Given the description of an element on the screen output the (x, y) to click on. 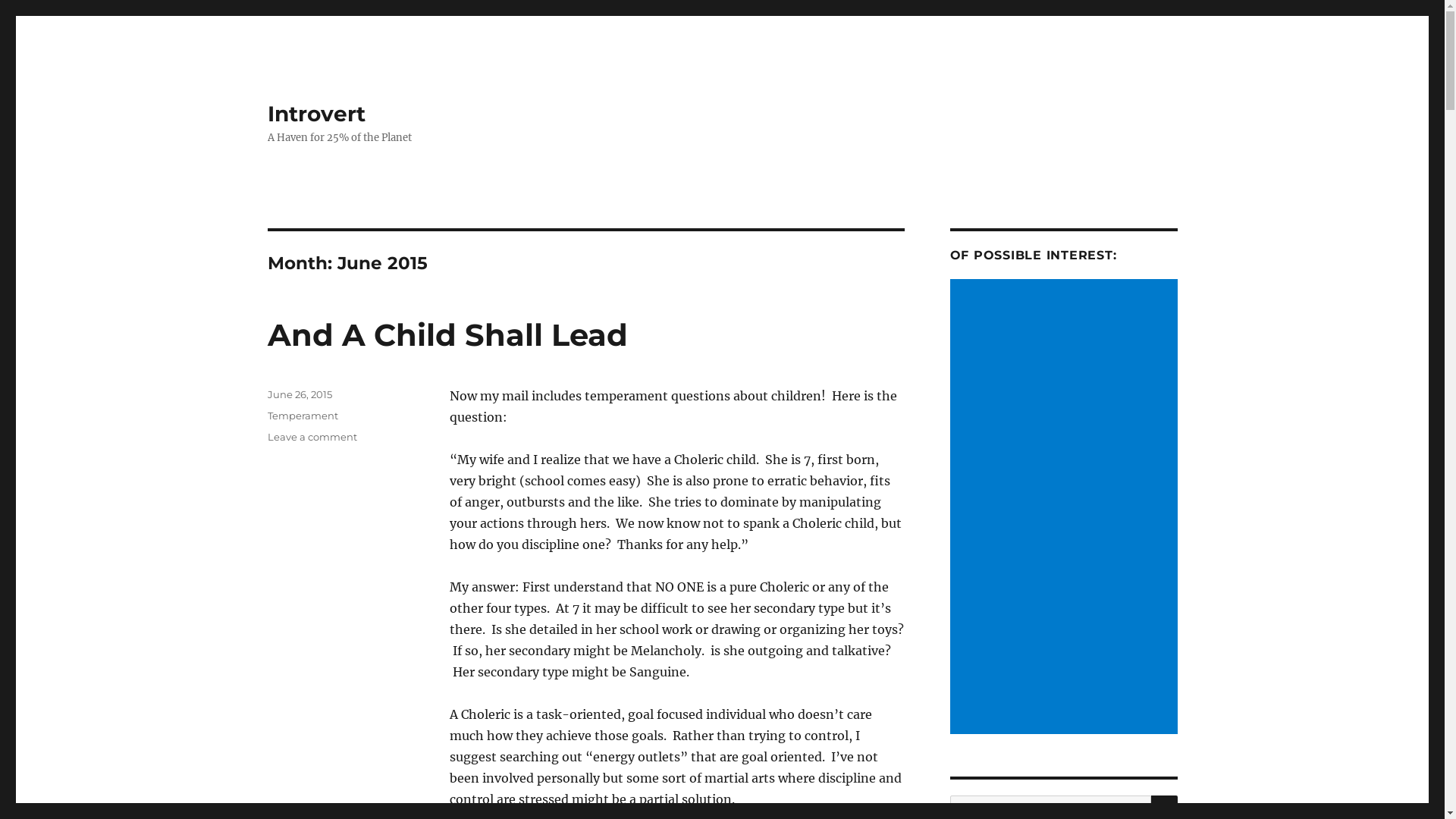
Advertisement Element type: hover (1065, 507)
And A Child Shall Lead Element type: text (446, 334)
Temperament Element type: text (301, 415)
June 26, 2015 Element type: text (298, 394)
Introvert Element type: text (315, 113)
Leave a comment
on And A Child Shall Lead Element type: text (311, 436)
